Given the description of an element on the screen output the (x, y) to click on. 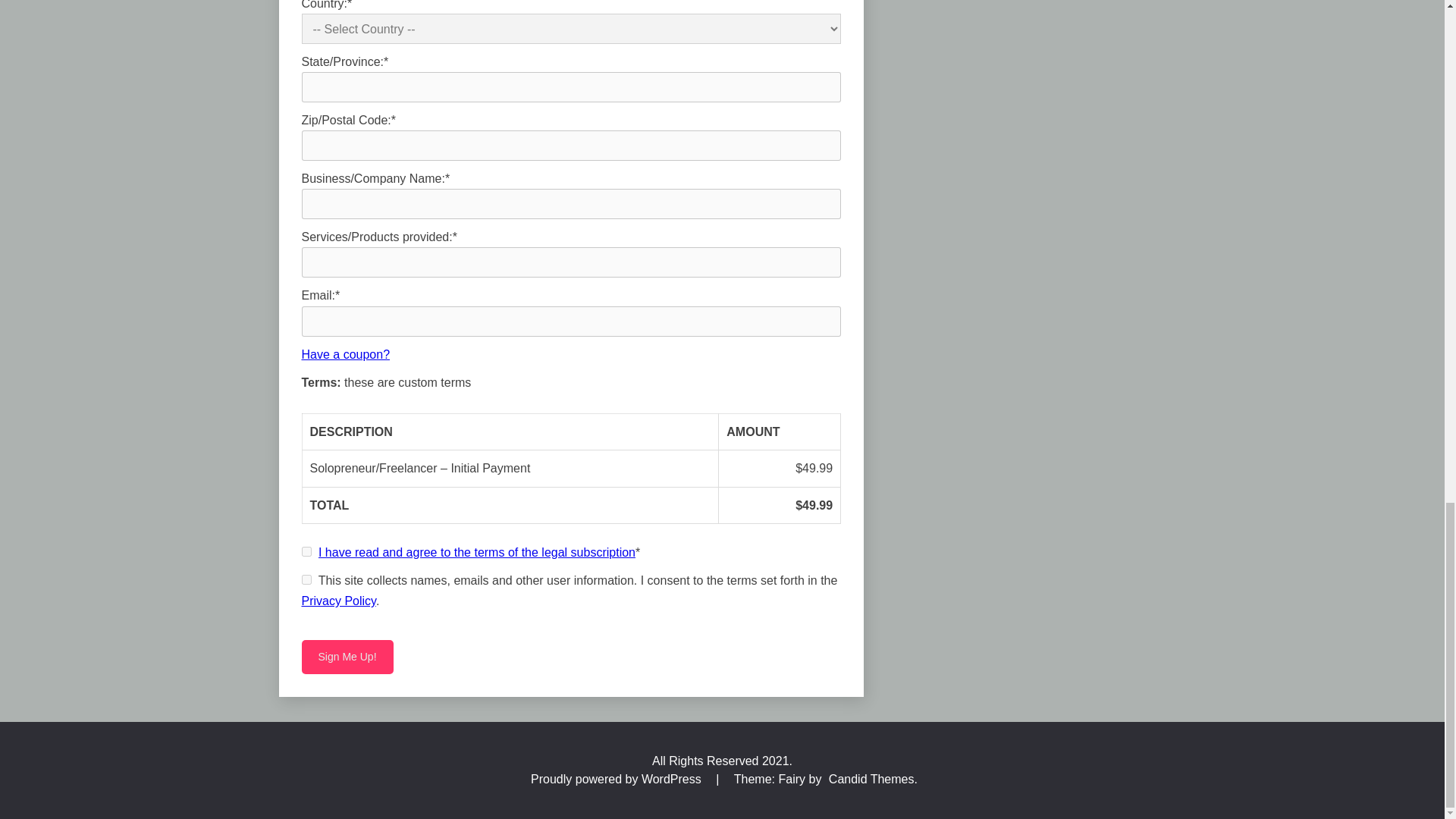
Sign Me Up! (347, 656)
Sign Me Up! (347, 656)
I have read and agree to the terms of the legal subscription (476, 552)
on (306, 551)
Privacy Policy (338, 600)
Have a coupon? (345, 354)
on (306, 579)
